Given the description of an element on the screen output the (x, y) to click on. 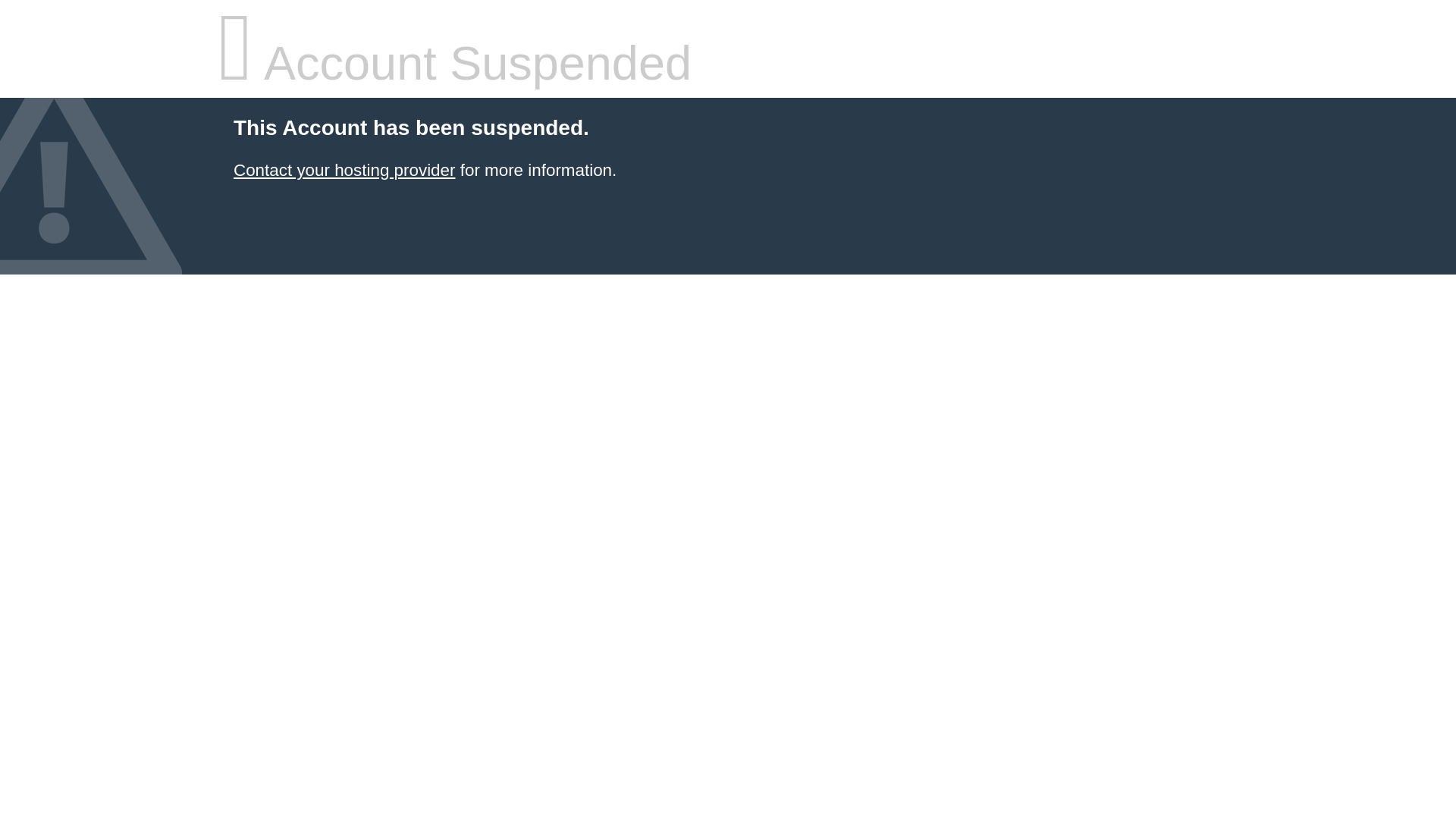
Contact your hosting provider (343, 169)
